Given the description of an element on the screen output the (x, y) to click on. 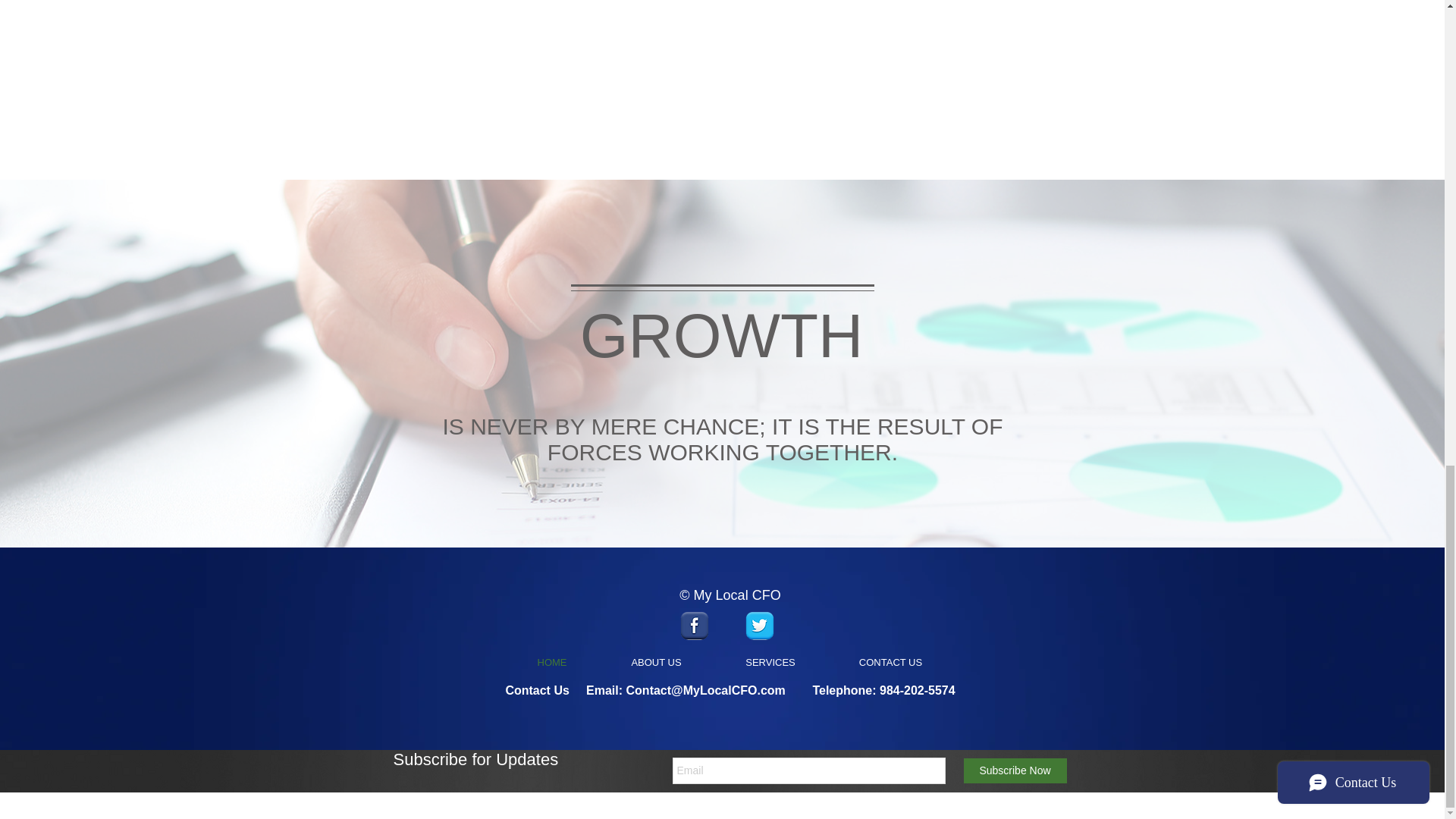
SERVICES (770, 662)
HOME (551, 662)
ttitter icon.png (758, 626)
ABOUT US (655, 662)
Subscribe Now (1013, 770)
CONTACT US (890, 662)
